Given the description of an element on the screen output the (x, y) to click on. 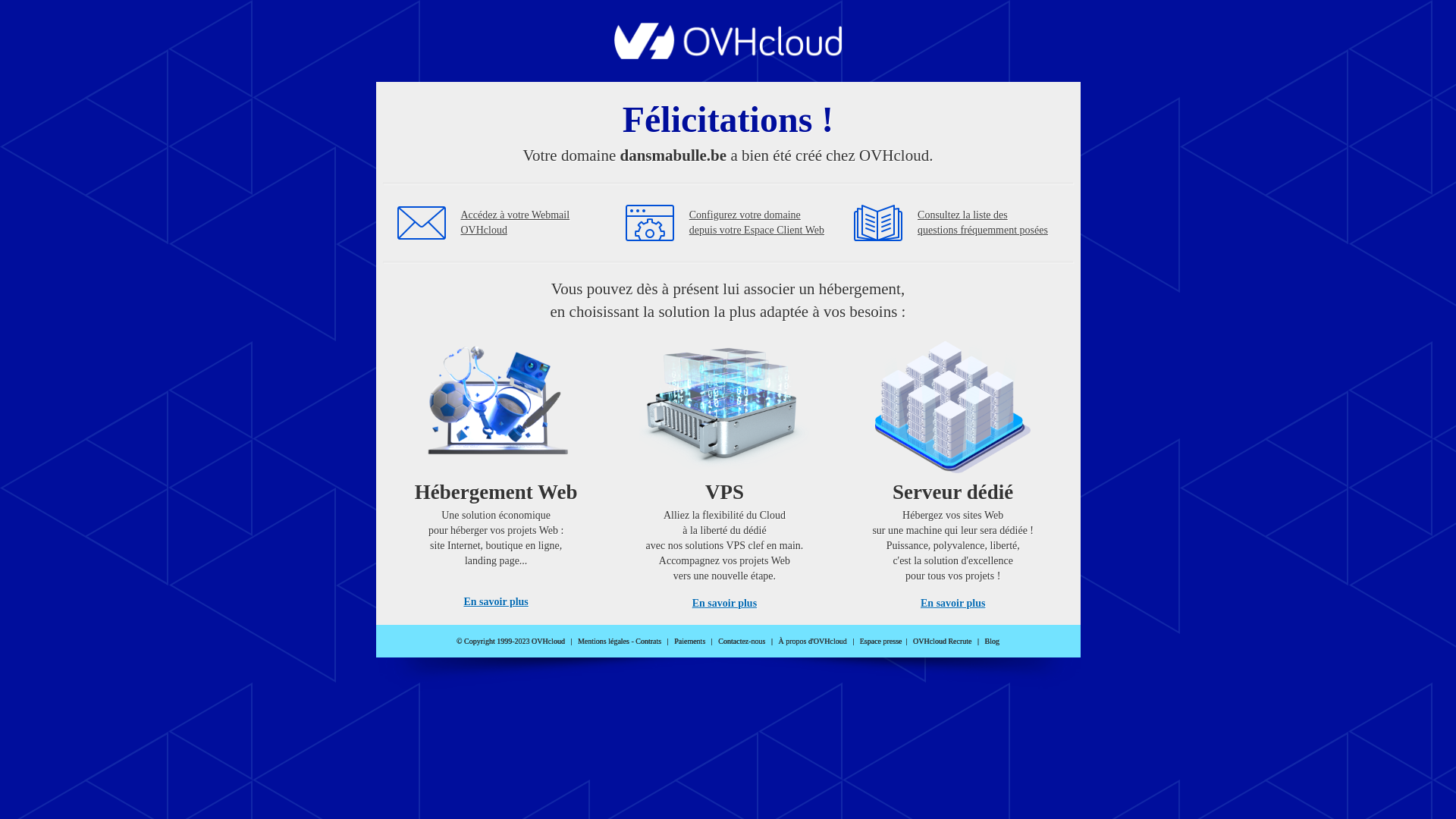
En savoir plus Element type: text (952, 602)
Paiements Element type: text (689, 641)
Blog Element type: text (992, 641)
VPS Element type: hover (724, 469)
OVHcloud Element type: hover (727, 54)
OVHcloud Recrute Element type: text (942, 641)
En savoir plus Element type: text (724, 602)
Contactez-nous Element type: text (741, 641)
Configurez votre domaine
depuis votre Espace Client Web Element type: text (756, 222)
En savoir plus Element type: text (495, 601)
Espace presse Element type: text (880, 641)
